Given the description of an element on the screen output the (x, y) to click on. 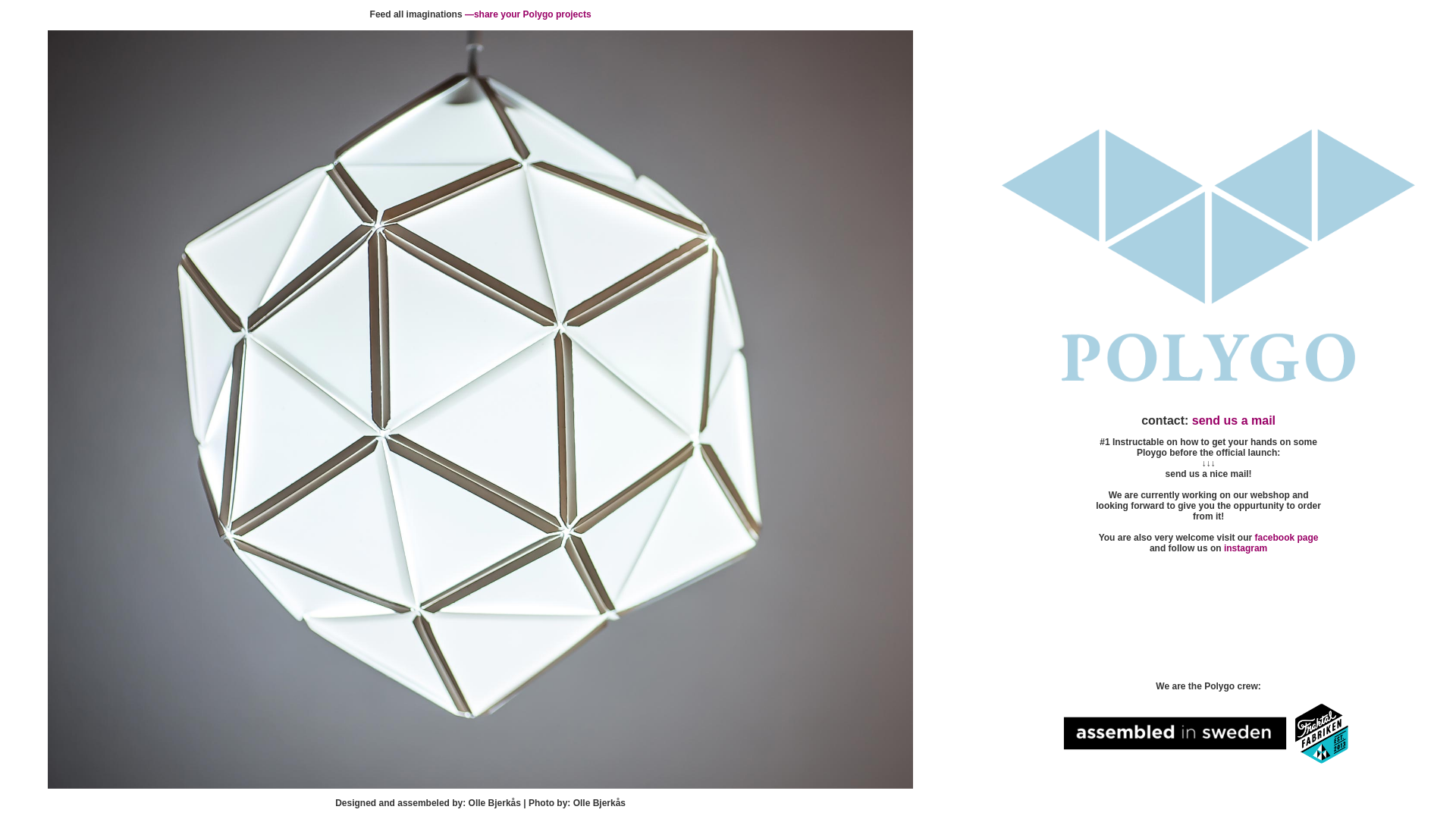
instagram Element type: text (1245, 547)
facebook page Element type: text (1286, 537)
send us a mail Element type: text (1233, 420)
